Given the description of an element on the screen output the (x, y) to click on. 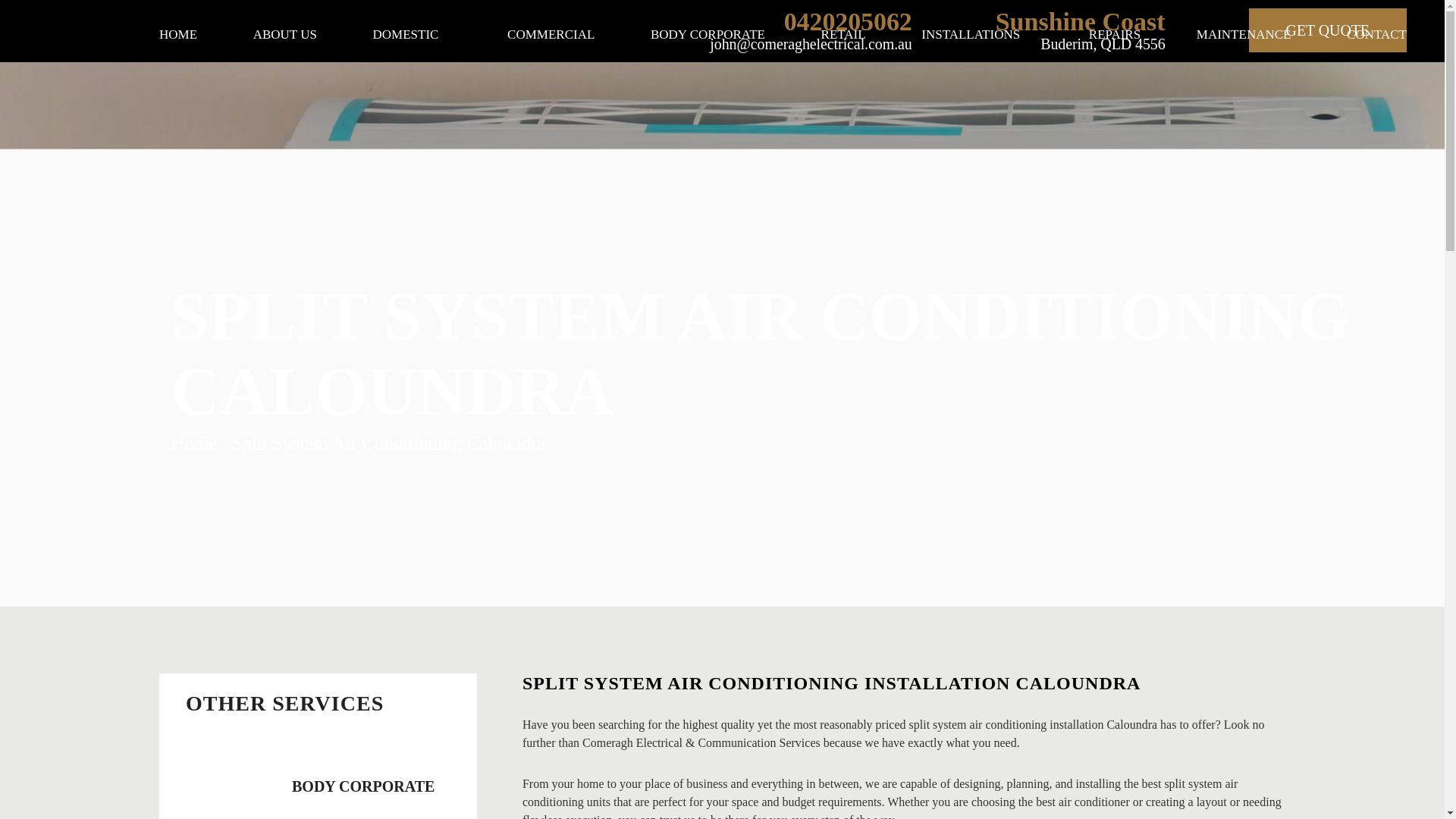
MAINTENANCE (1243, 37)
BODY CORPORATE (707, 37)
Buderim, QLD 4556 (1102, 44)
Home (193, 443)
DOMESTIC (411, 37)
COMMERCIAL (550, 37)
CONTACT (1376, 37)
ABOUT US (285, 37)
GET QUOTE (1327, 30)
0420205062 (848, 21)
REPAIRS (1114, 37)
BODY CORPORATE (317, 780)
INSTALLATIONS (976, 37)
